Given the description of an element on the screen output the (x, y) to click on. 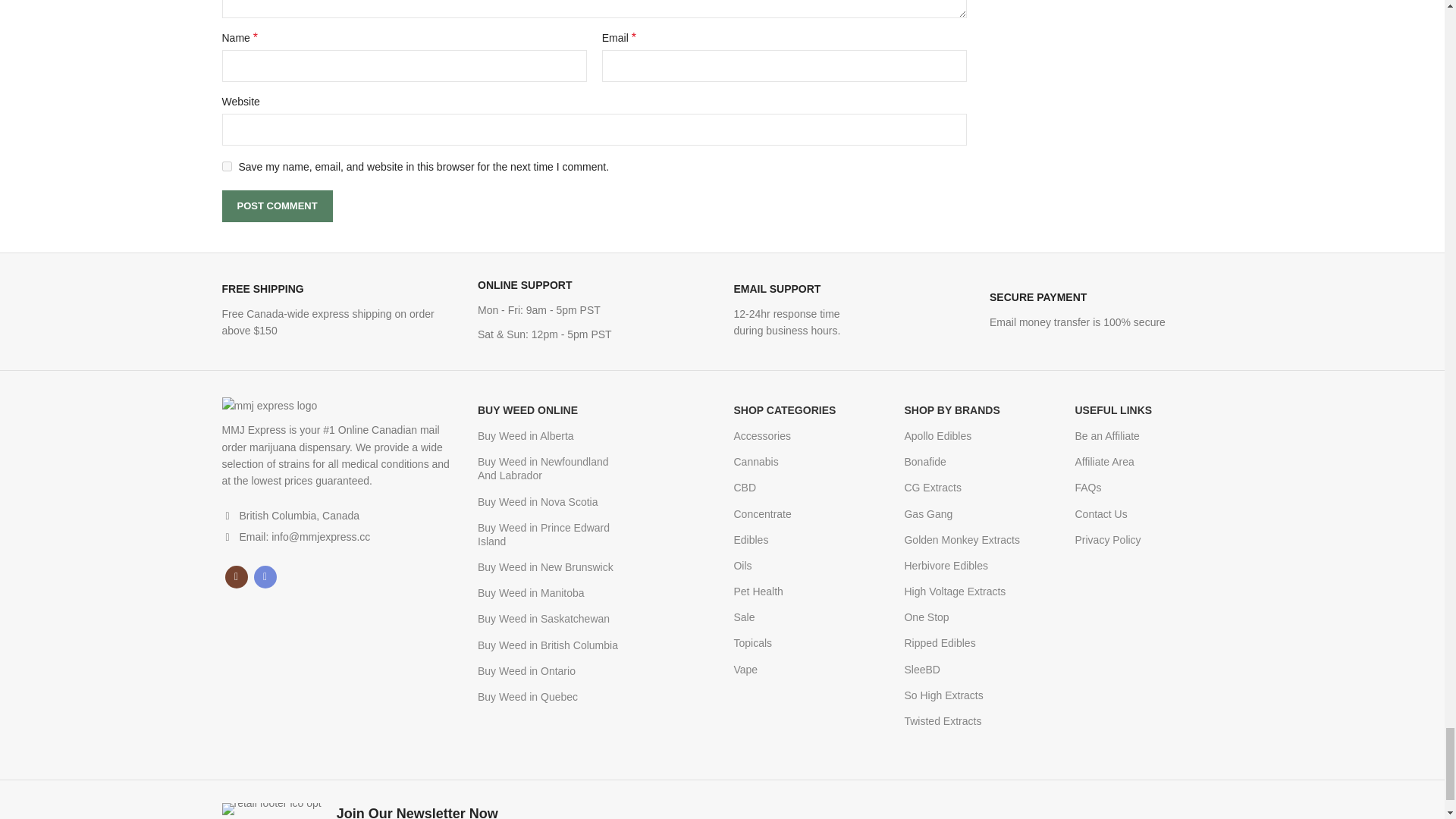
yes (226, 166)
Post Comment (276, 205)
